Given the description of an element on the screen output the (x, y) to click on. 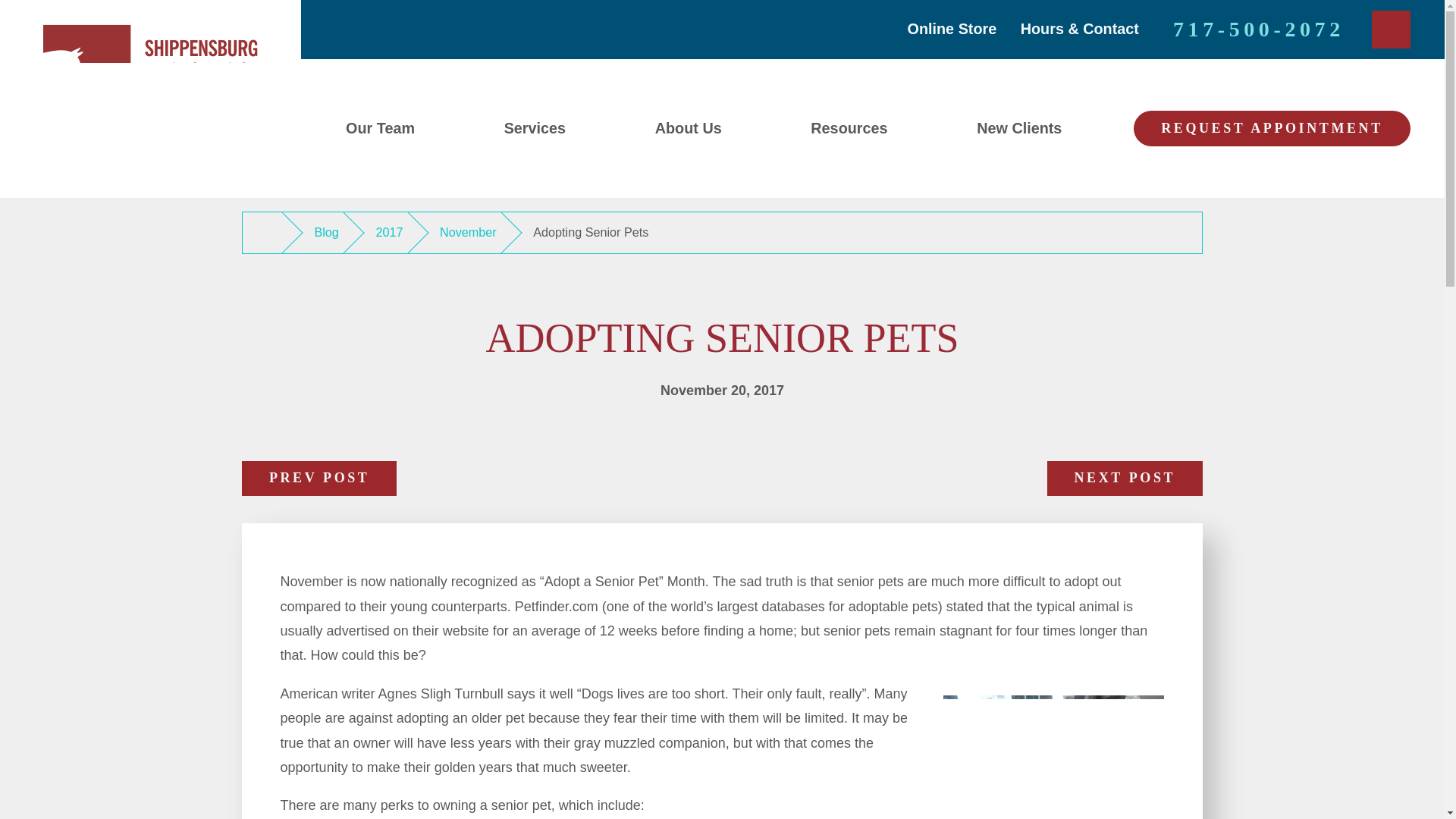
Search Our Site (1390, 29)
About Us (688, 128)
New Clients (1018, 128)
Search Icon (1390, 29)
Shippensburg Animal Hospital (150, 98)
Services (535, 128)
Online Store (952, 28)
Go Home (269, 232)
Resources (850, 128)
717-500-2072 (1258, 29)
